Given the description of an element on the screen output the (x, y) to click on. 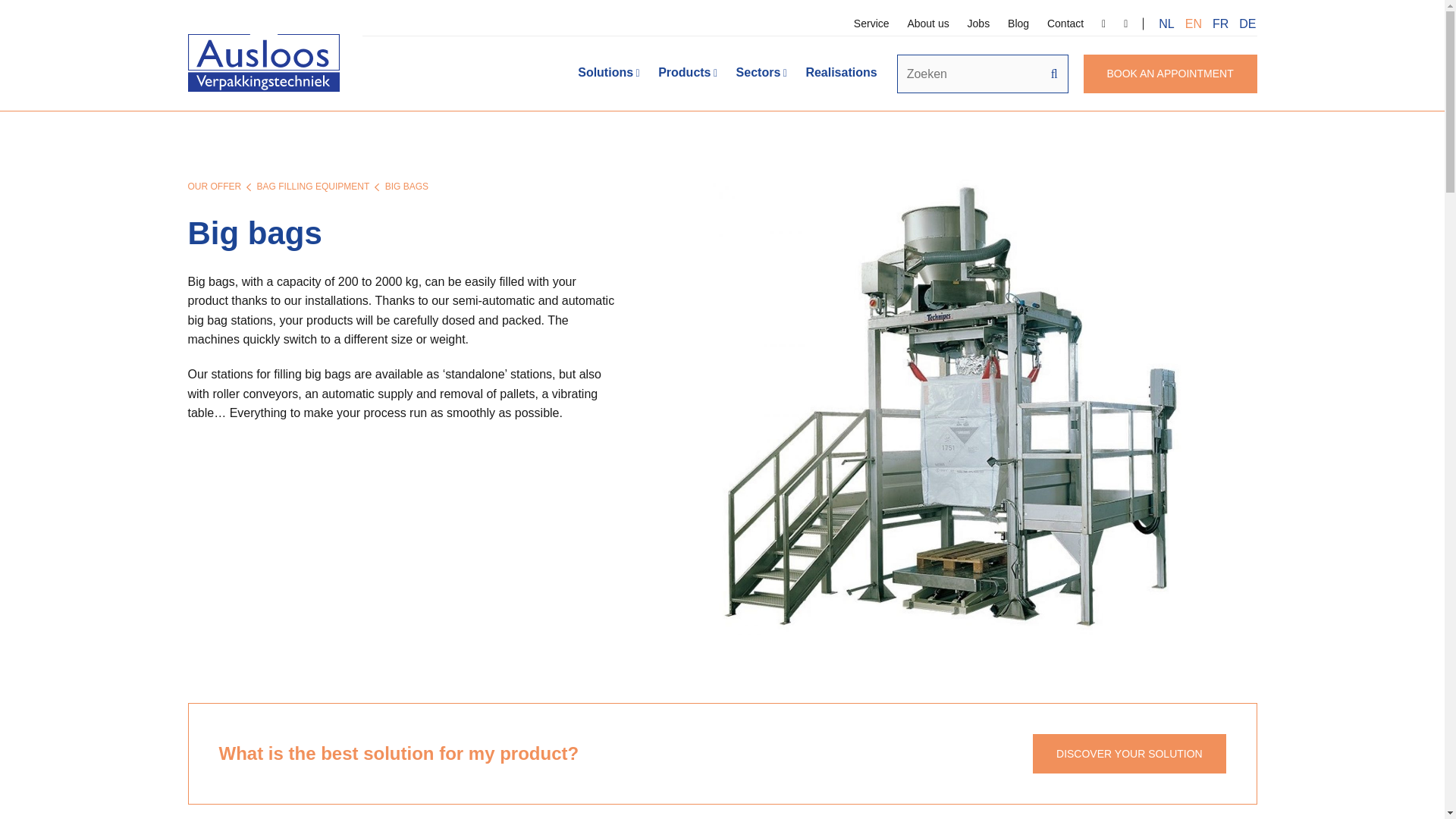
Products (687, 73)
Solutions (608, 73)
Ausloos (263, 63)
BOOK AN APPOINTMENT (1170, 74)
Jobs (979, 23)
NL (1165, 23)
About us (928, 23)
Service (871, 23)
Realisations (840, 73)
Contact (1064, 23)
Blog (1018, 23)
